Given the description of an element on the screen output the (x, y) to click on. 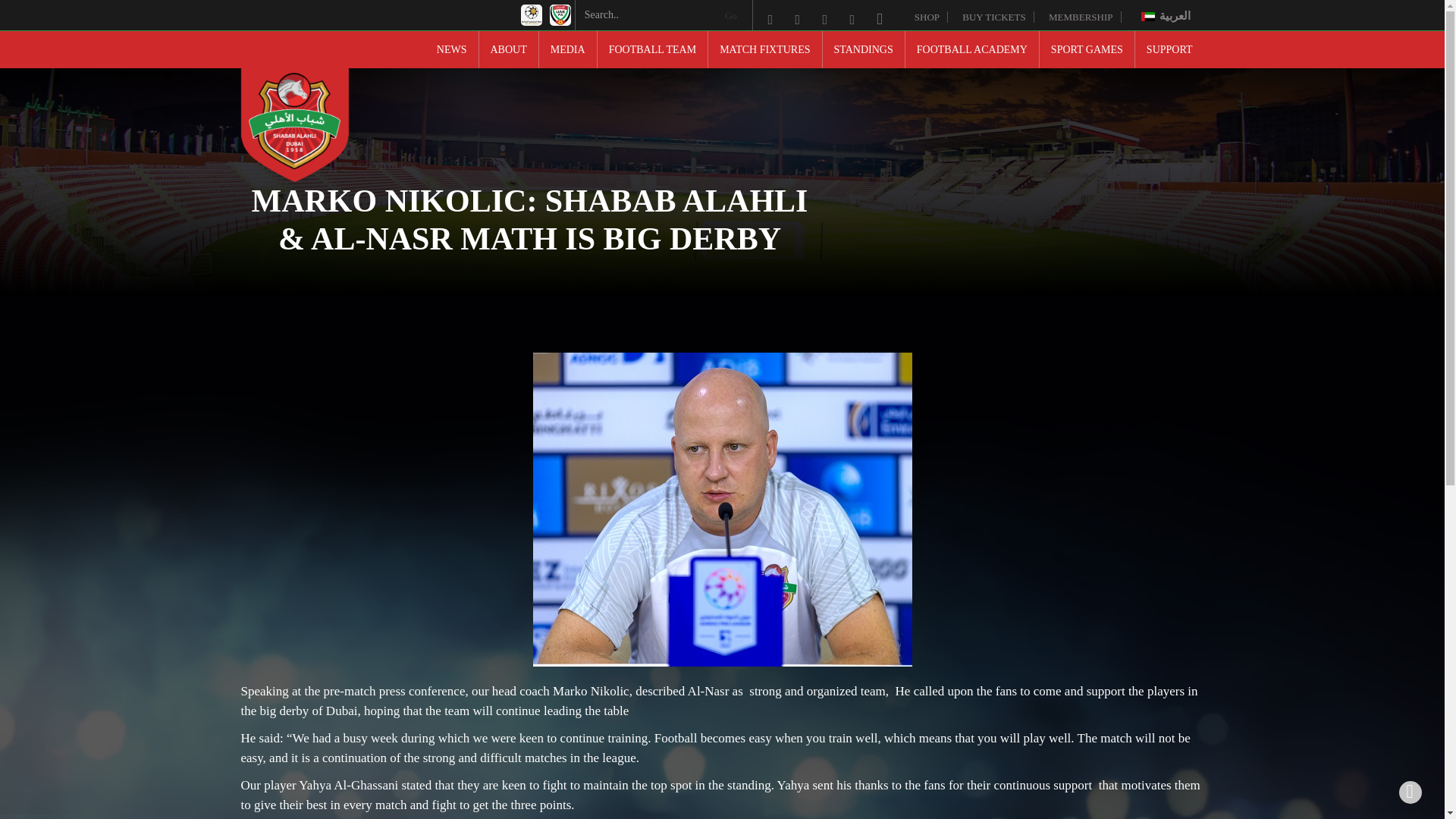
ABOUT (508, 49)
NEWS (452, 49)
BUY TICKETS (997, 16)
FOOTBALL TEAM (651, 49)
Go (731, 15)
MEDIA (567, 49)
MATCH FIXTURES (764, 49)
SHOP (930, 16)
ABOUT (508, 49)
NEWS (452, 49)
MEDIA (567, 49)
MEMBERSHIP (1084, 16)
FOOTBALL TEAM (651, 49)
